Given the description of an element on the screen output the (x, y) to click on. 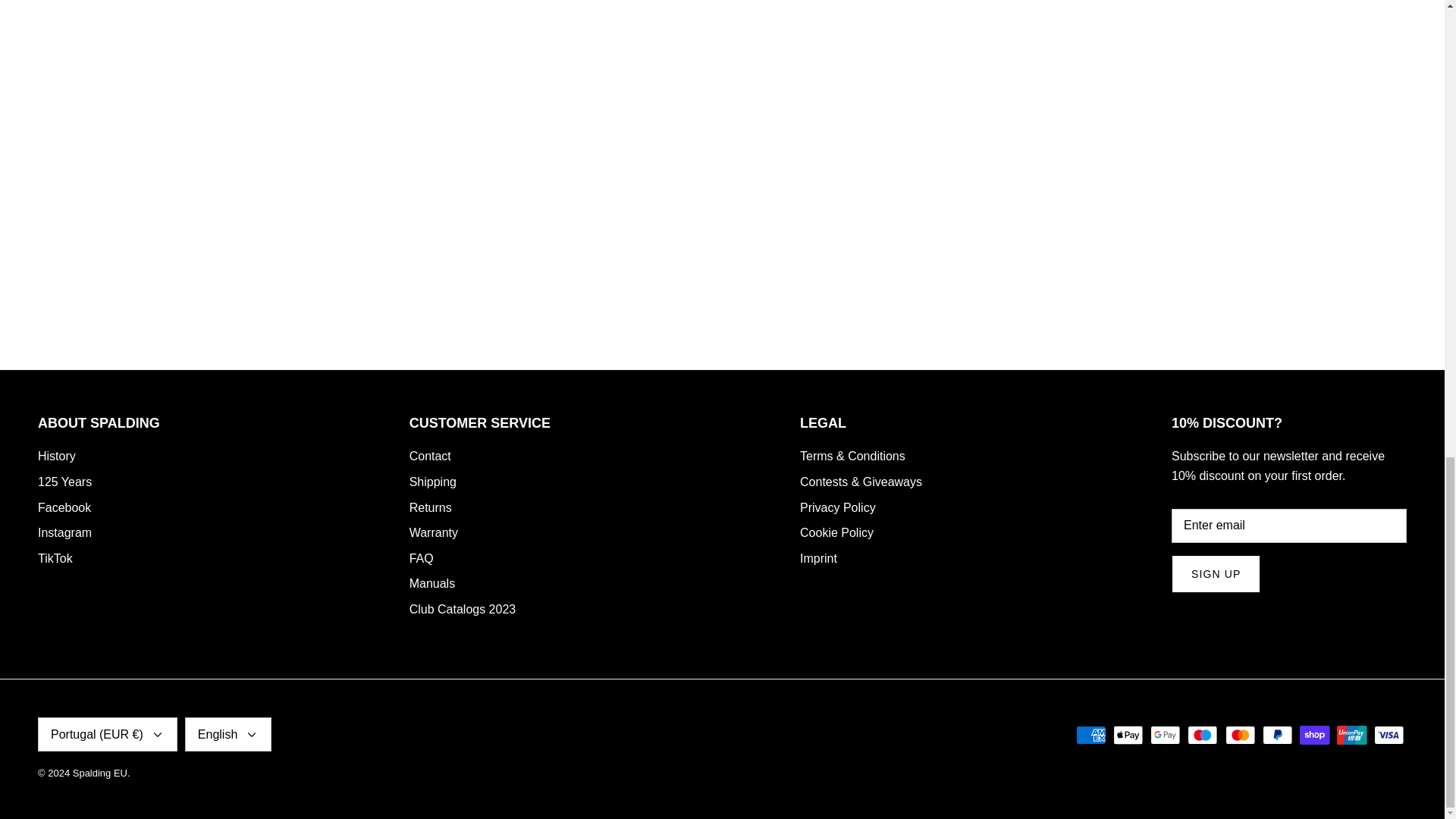
PayPal (1277, 734)
Apple Pay (1127, 734)
Shop Pay (1314, 734)
Maestro (1202, 734)
Mastercard (1240, 734)
American Express (1090, 734)
Union Pay (1351, 734)
Google Pay (1165, 734)
